Given the description of an element on the screen output the (x, y) to click on. 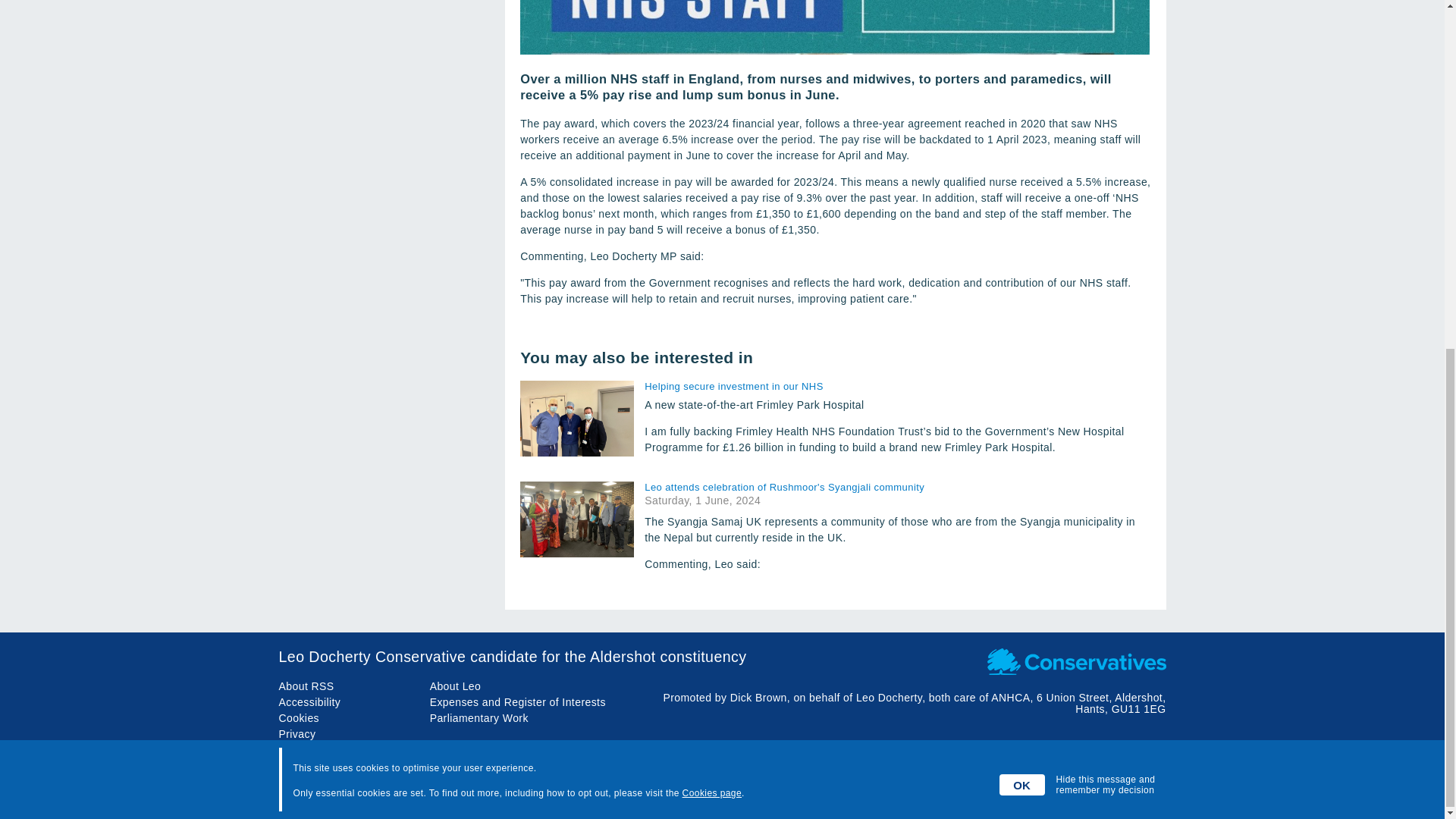
OK (1021, 179)
Cookies (299, 717)
Helping secure investment in our NHS (897, 386)
Expenses and Register of Interests (517, 702)
About RSS (306, 686)
Parliamentary Work (478, 717)
Privacy (297, 734)
About Leo (455, 686)
Bluetree (1145, 793)
Cookies page (711, 188)
Leo attends celebration of Rushmoor's Syangjali community (897, 487)
Accessibility (309, 702)
